Given the description of an element on the screen output the (x, y) to click on. 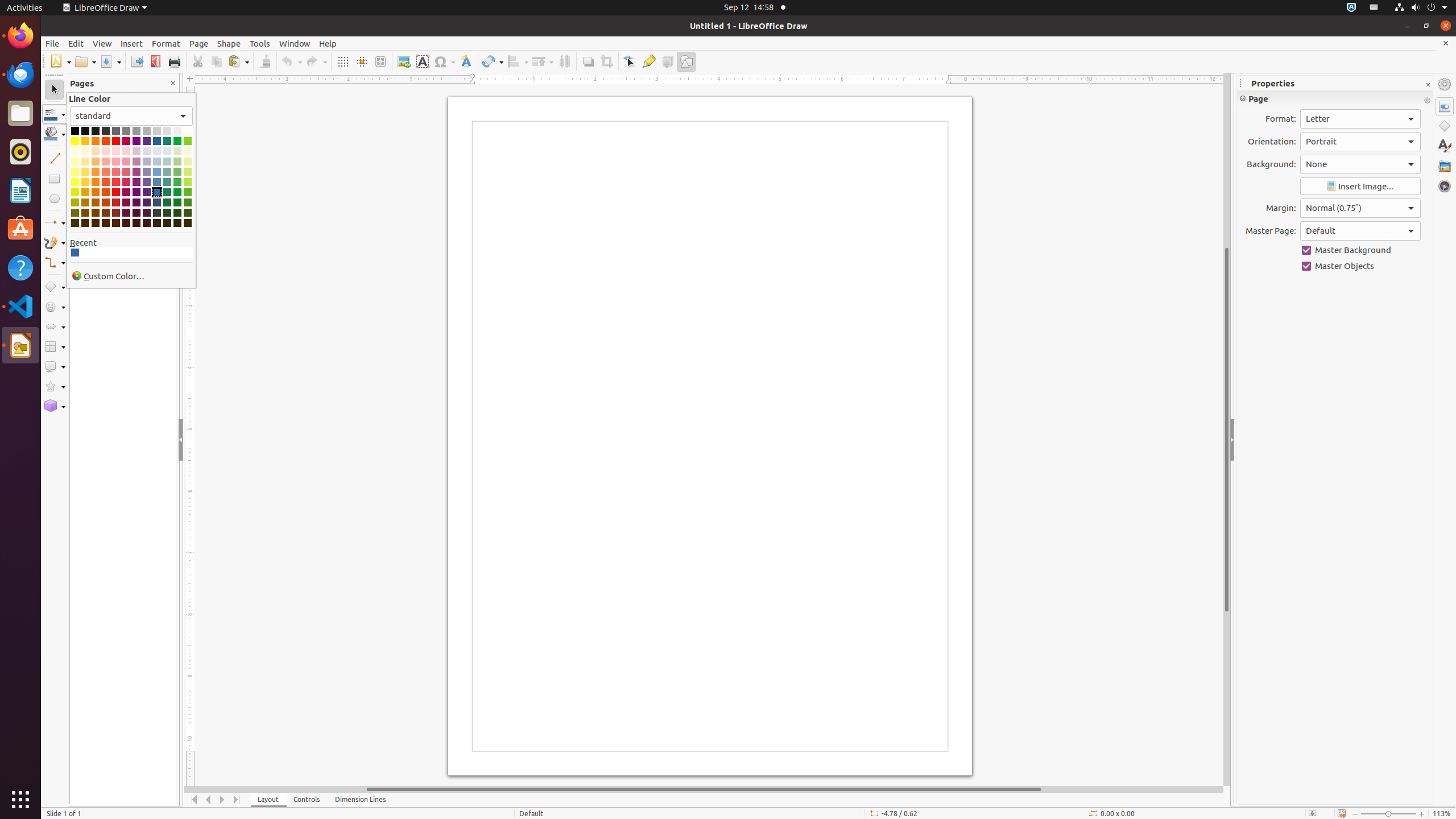
Light Lime 1 Element type: list-item (187, 181)
Light Lime 4 Element type: list-item (187, 151)
Format: Element type: combo-box (1360, 118)
Line Element type: push-button (53, 158)
Light Indigo 1 Element type: list-item (146, 181)
